Given the description of an element on the screen output the (x, y) to click on. 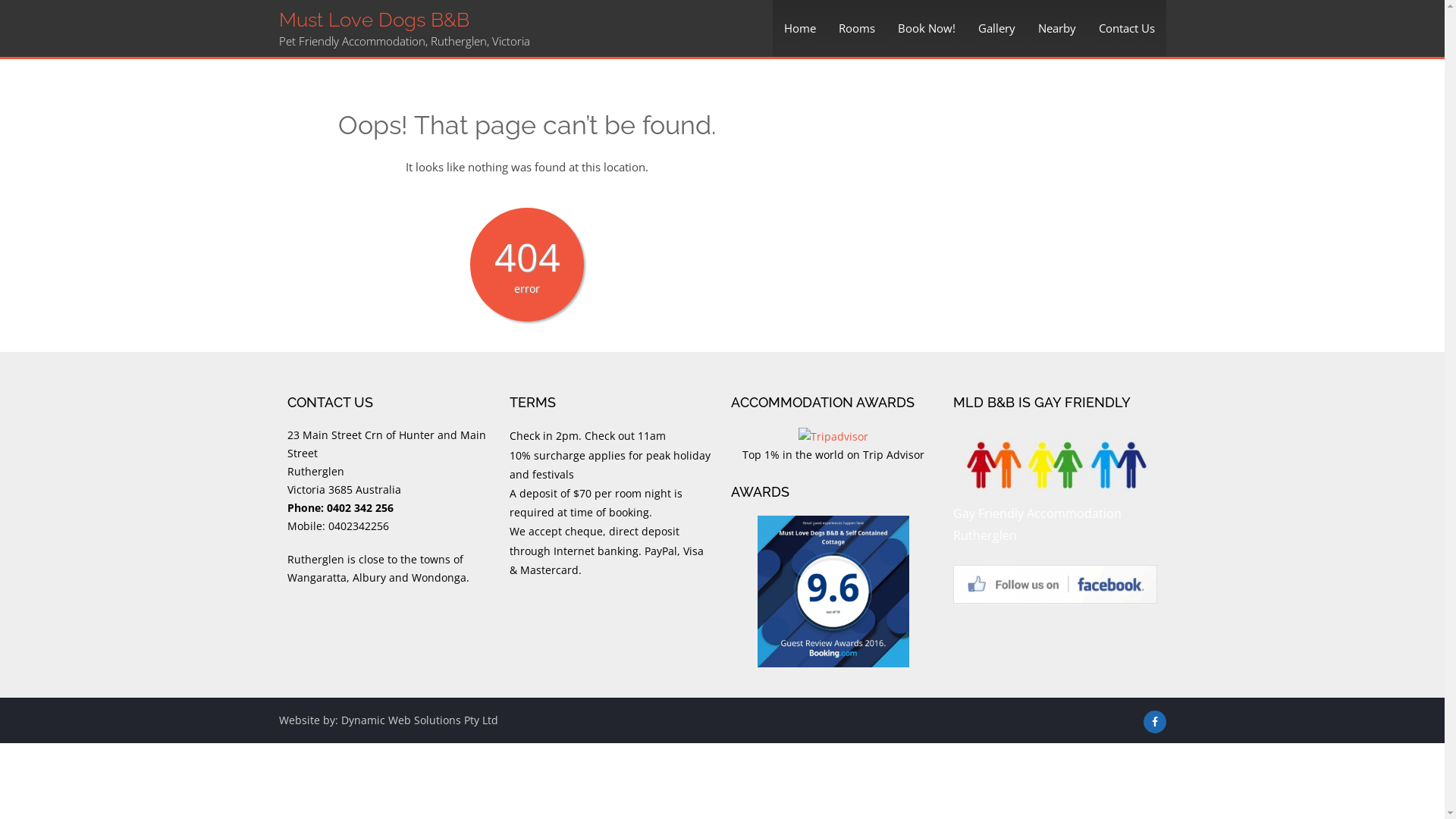
Gallery Element type: text (996, 28)
Dynamic Web Solutions Pty Ltd Element type: text (419, 719)
Home Element type: text (798, 28)
Book Now! Element type: text (925, 28)
Awards Element type: hover (833, 591)
Rooms Element type: text (855, 28)
Nearby Element type: text (1056, 28)
Contact Us Element type: text (1126, 28)
